Given the description of an element on the screen output the (x, y) to click on. 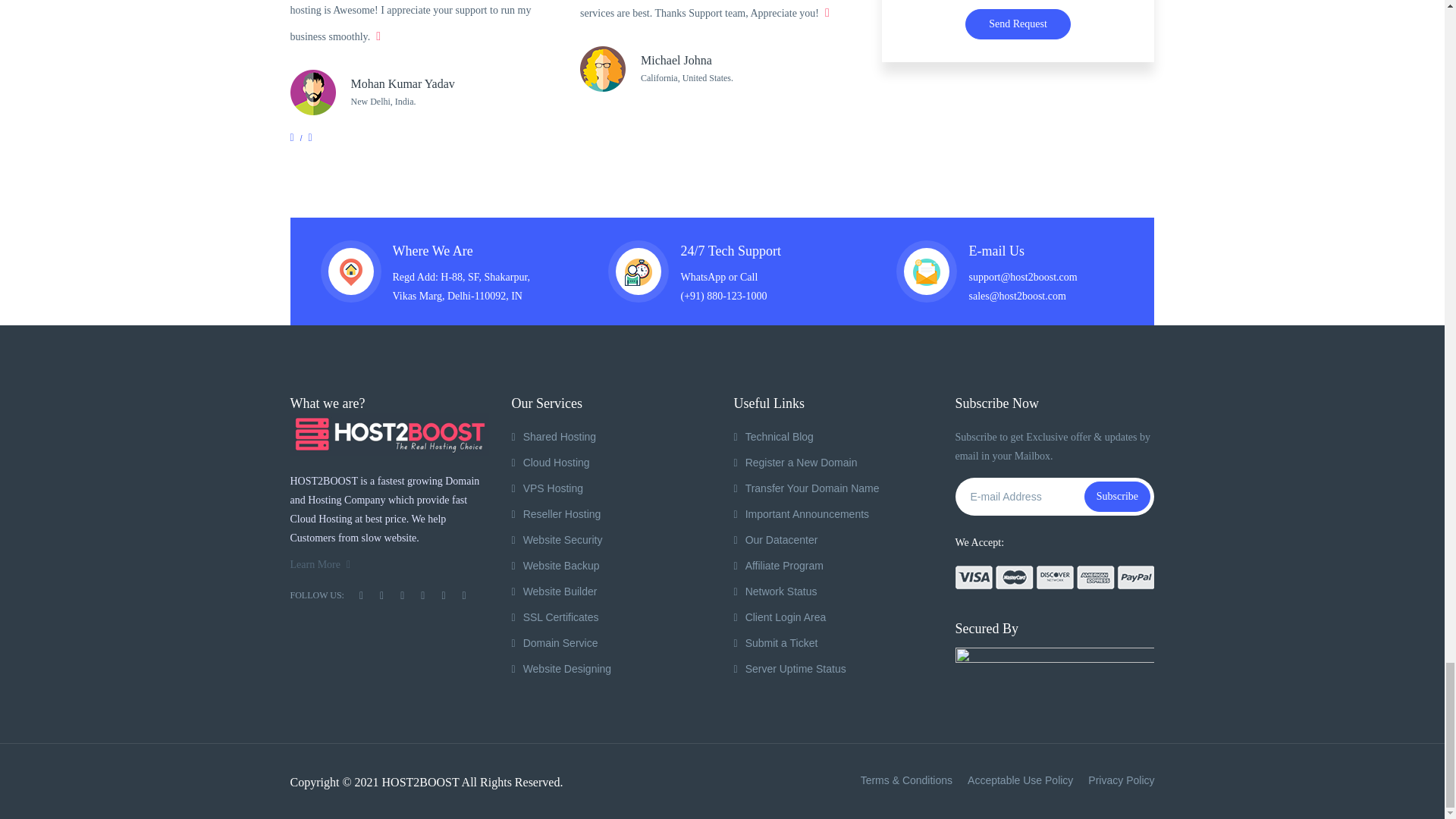
Cloud Hosting (550, 462)
Learn More (319, 565)
Shared Hosting (553, 436)
VPS Hosting (547, 488)
Send Request (1017, 24)
